Given the description of an element on the screen output the (x, y) to click on. 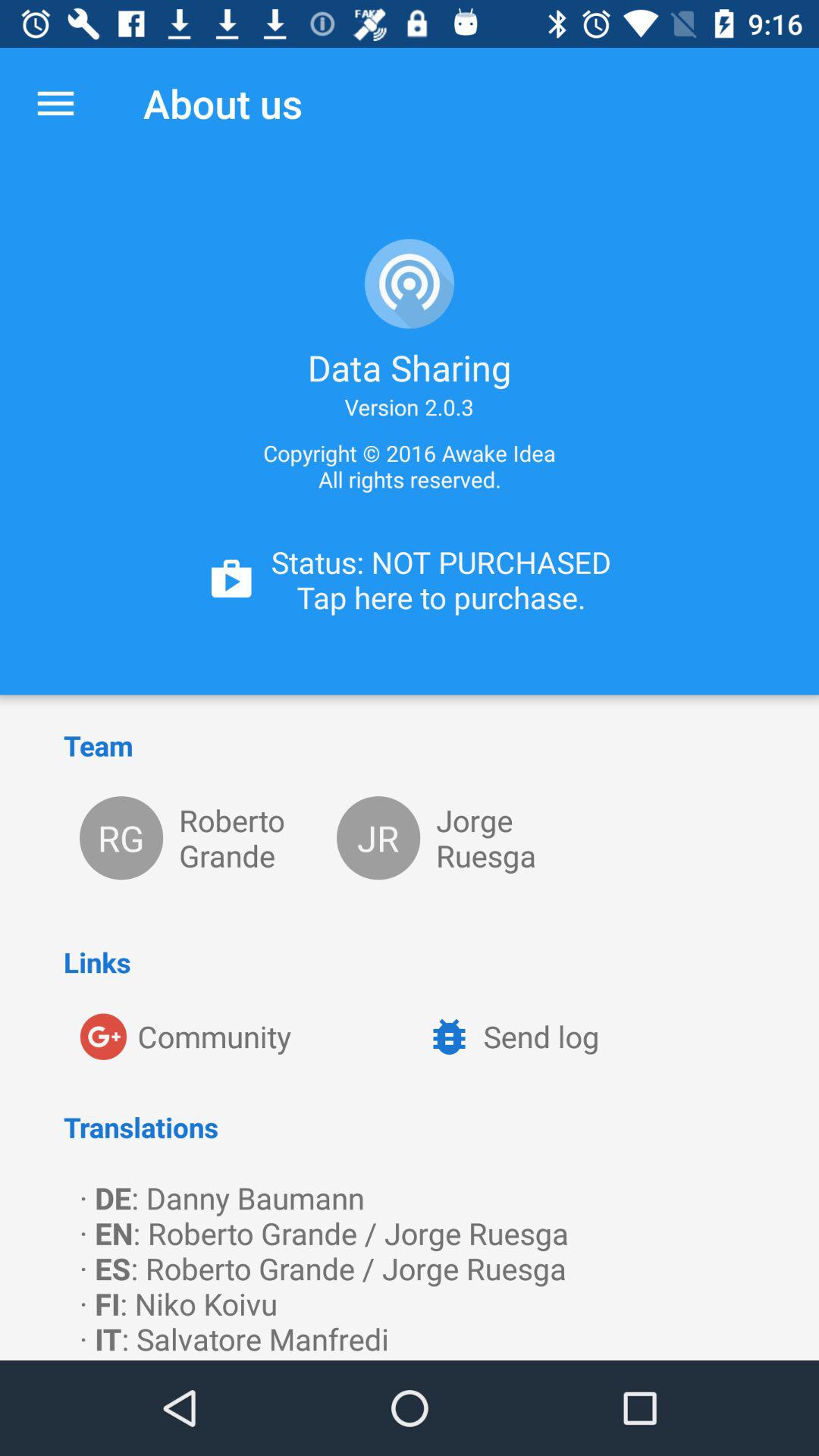
click item to the left of the about us icon (55, 103)
